Given the description of an element on the screen output the (x, y) to click on. 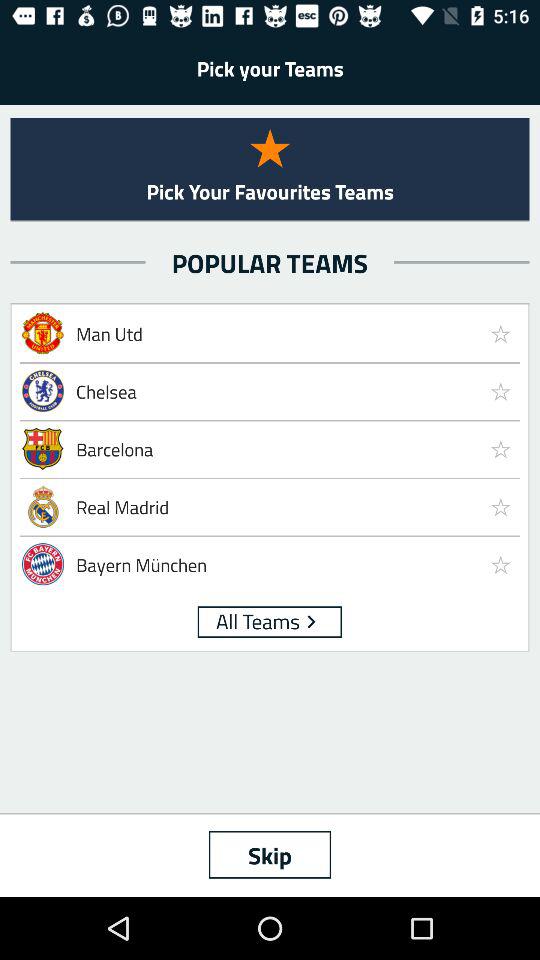
launch the skip icon (269, 854)
